Given the description of an element on the screen output the (x, y) to click on. 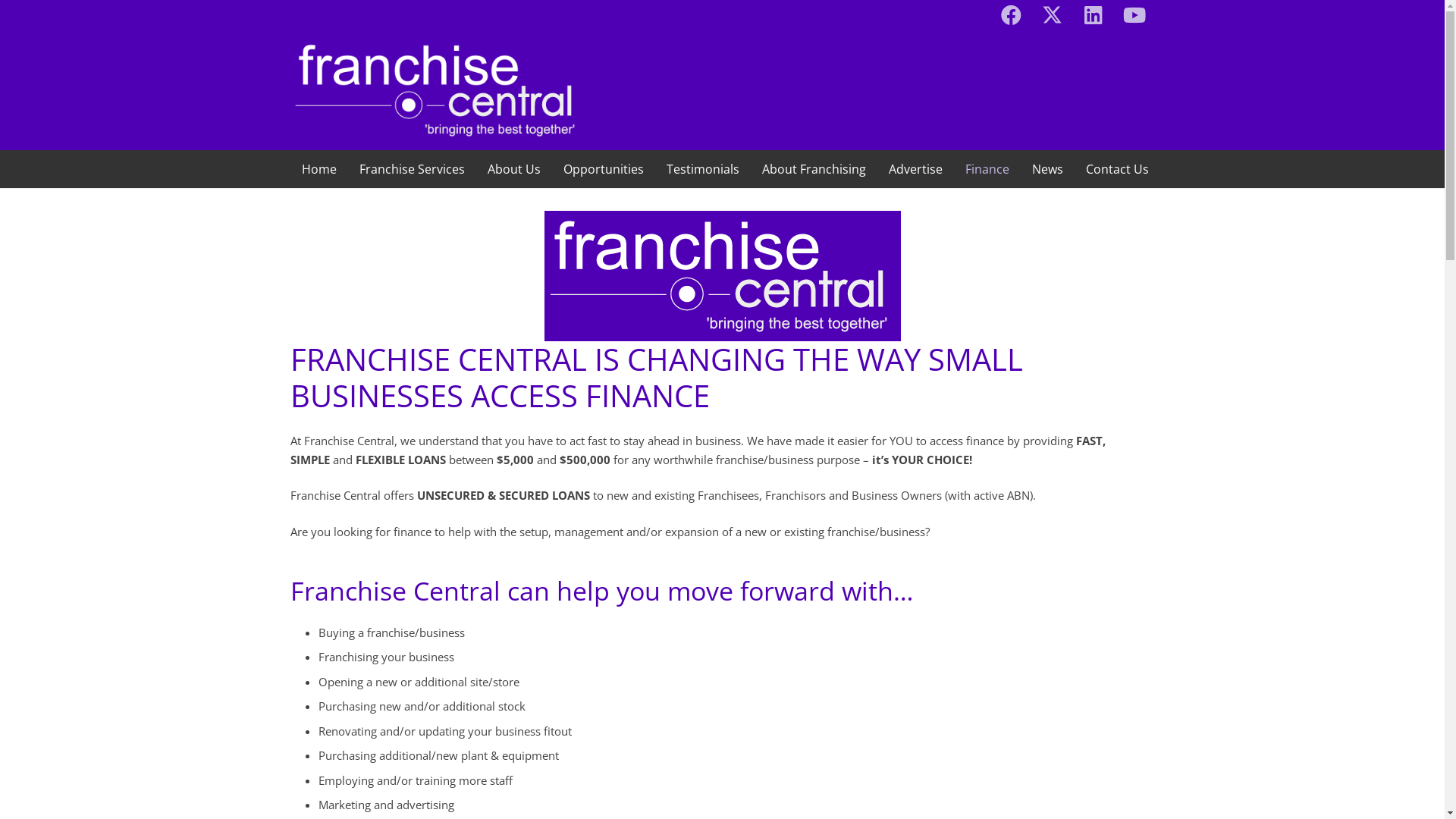
About Us Element type: text (514, 169)
News Element type: text (1047, 169)
Opportunities Element type: text (603, 169)
Franchise Services Element type: text (411, 169)
Finance Element type: text (986, 169)
Advertise Element type: text (914, 169)
Contact Us Element type: text (1116, 169)
Testimonials Element type: text (702, 169)
About Franchising Element type: text (813, 169)
Home Element type: text (318, 169)
